Given the description of an element on the screen output the (x, y) to click on. 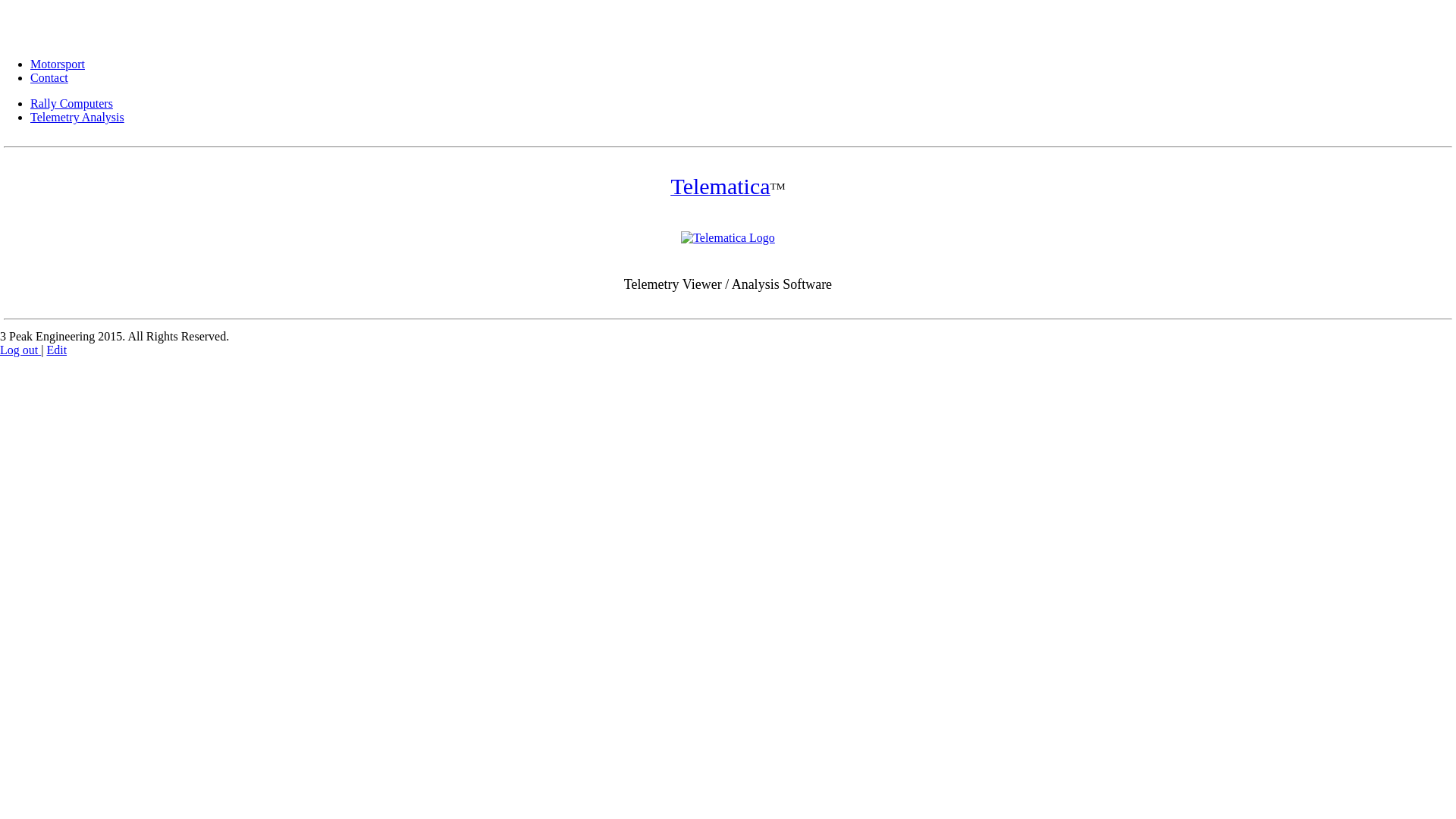
Telematica Element type: text (719, 189)
Edit Element type: text (56, 349)
Log out Element type: text (20, 349)
Rally Computers Element type: text (71, 103)
Motorsport Element type: text (57, 63)
Telemetry Analysis Element type: text (77, 116)
Contact Element type: text (49, 77)
